Given the description of an element on the screen output the (x, y) to click on. 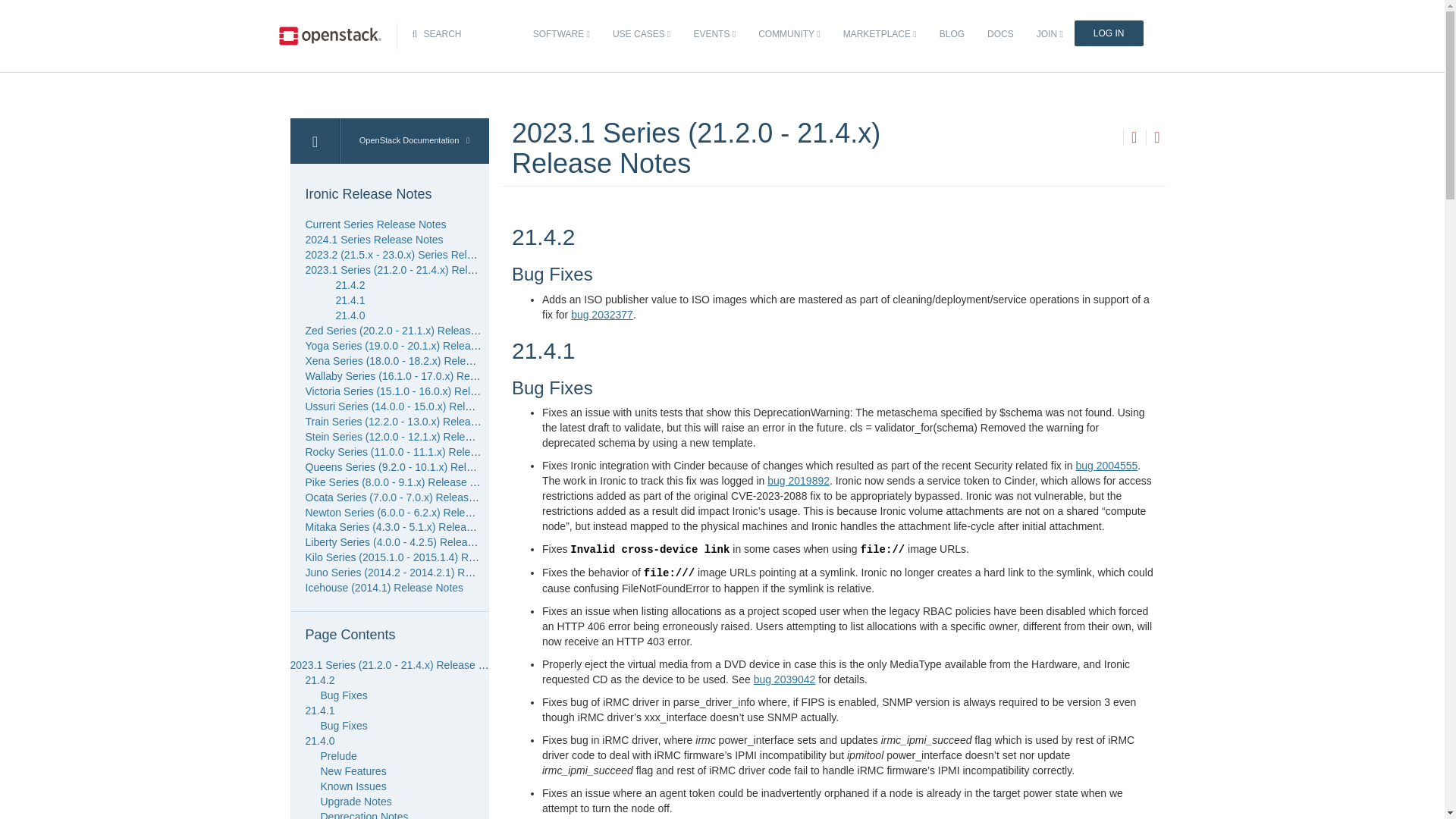
MARKETPLACE (879, 34)
USE CASES (641, 34)
COMMUNITY (788, 34)
SOFTWARE (561, 34)
EVENTS (713, 34)
